Given the description of an element on the screen output the (x, y) to click on. 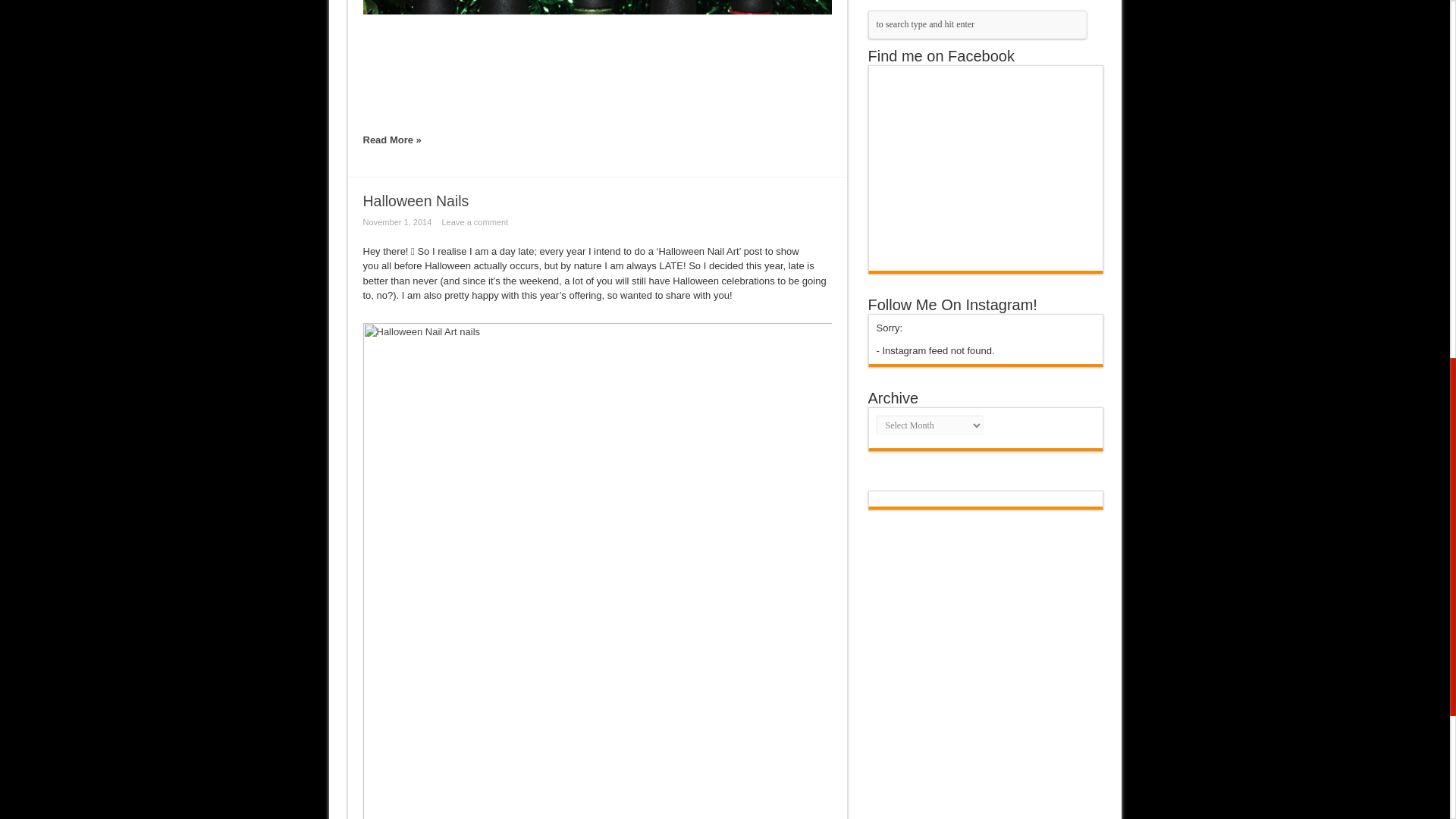
Permalink to Halloween Nails (415, 200)
Halloween Nails (415, 200)
to search type and hit enter (976, 24)
Leave a comment (478, 221)
